Given the description of an element on the screen output the (x, y) to click on. 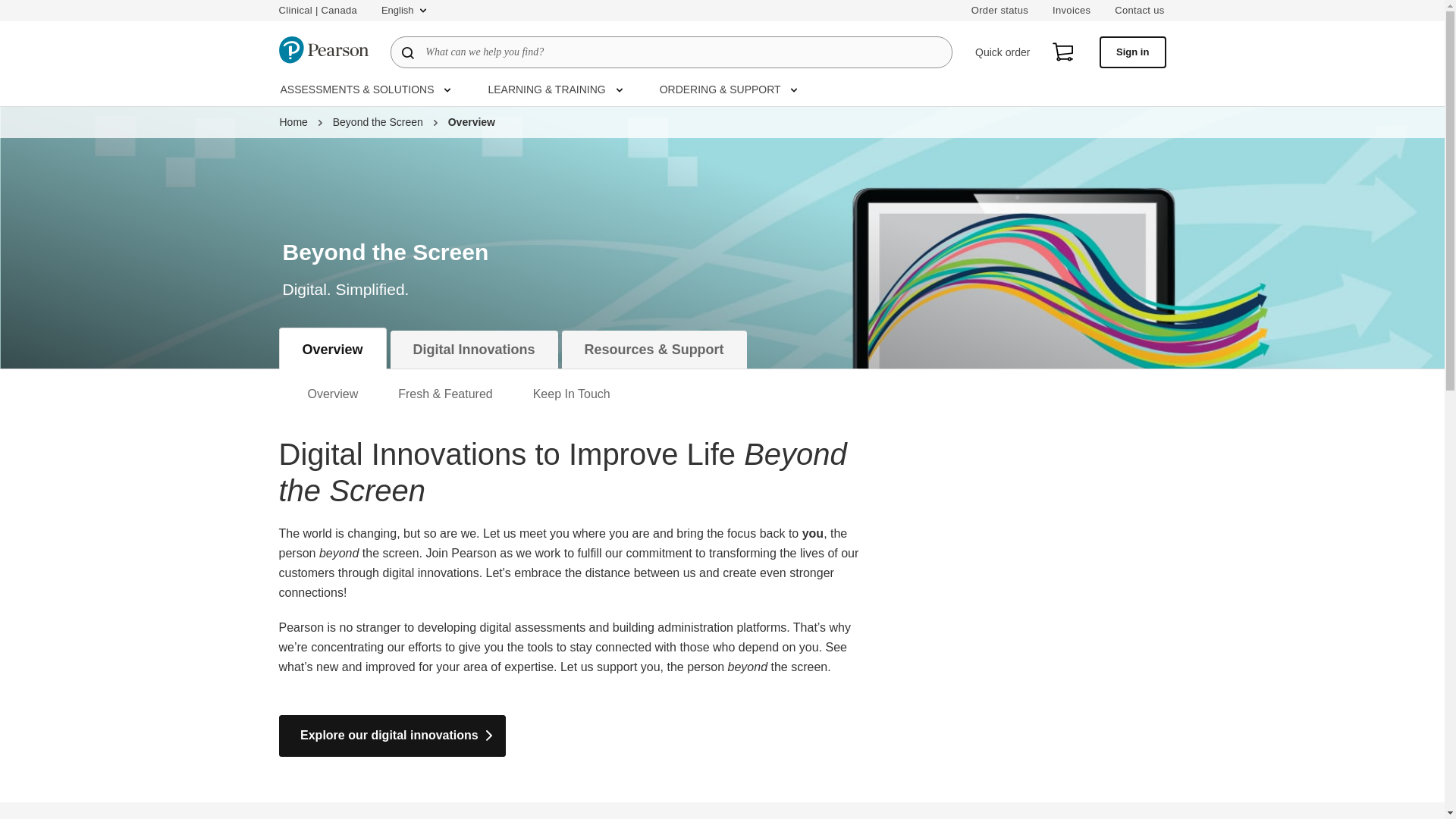
Skip to main content (10, 7)
Quick order (1002, 51)
Submit the search query. (407, 52)
Invoices (1071, 10)
Order status (999, 10)
Sign in (1132, 51)
English (404, 10)
Contact us (1139, 10)
